Given the description of an element on the screen output the (x, y) to click on. 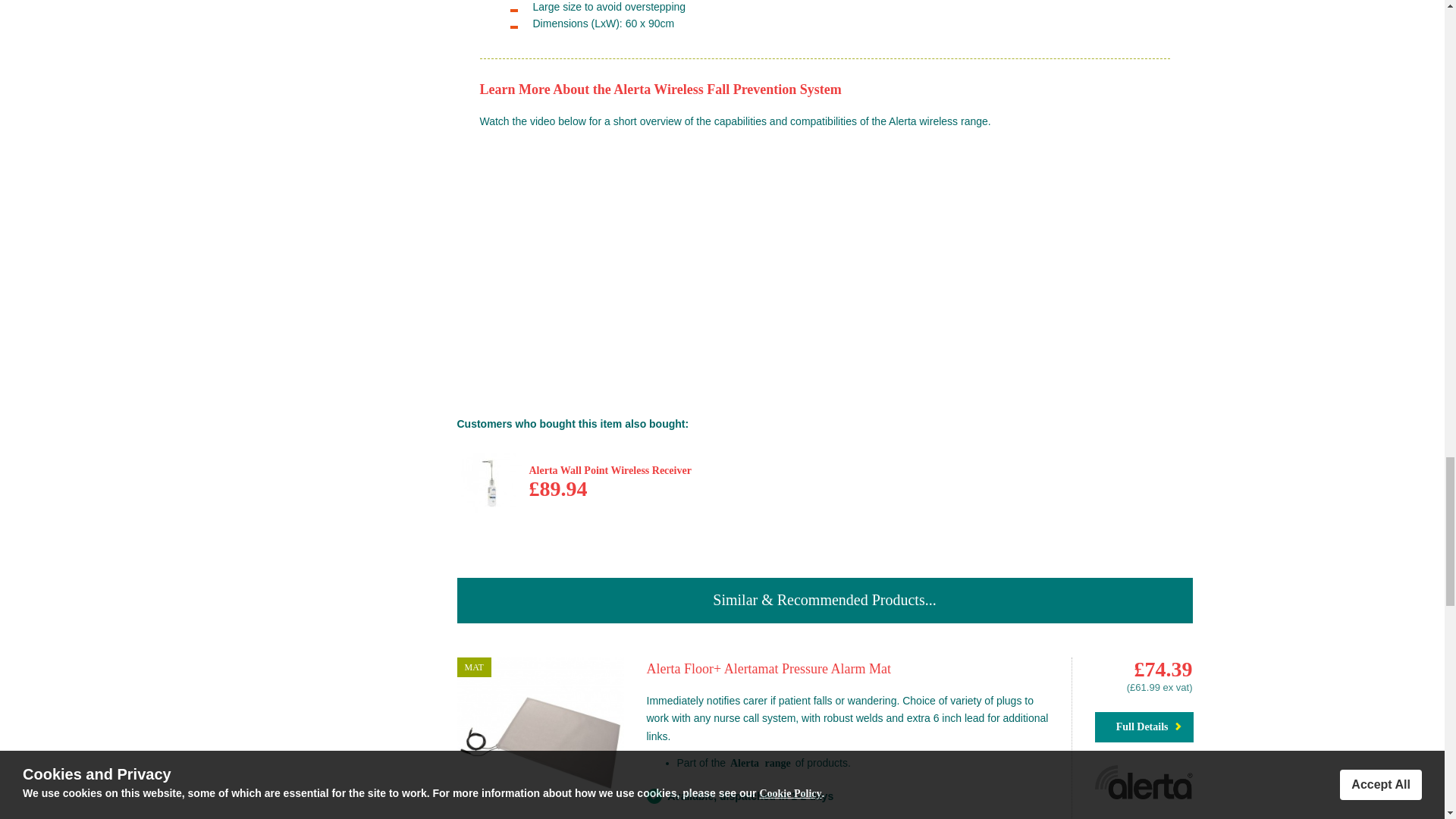
Available, dispatched in 1-2 days (653, 795)
Wistia video player (824, 259)
